Given the description of an element on the screen output the (x, y) to click on. 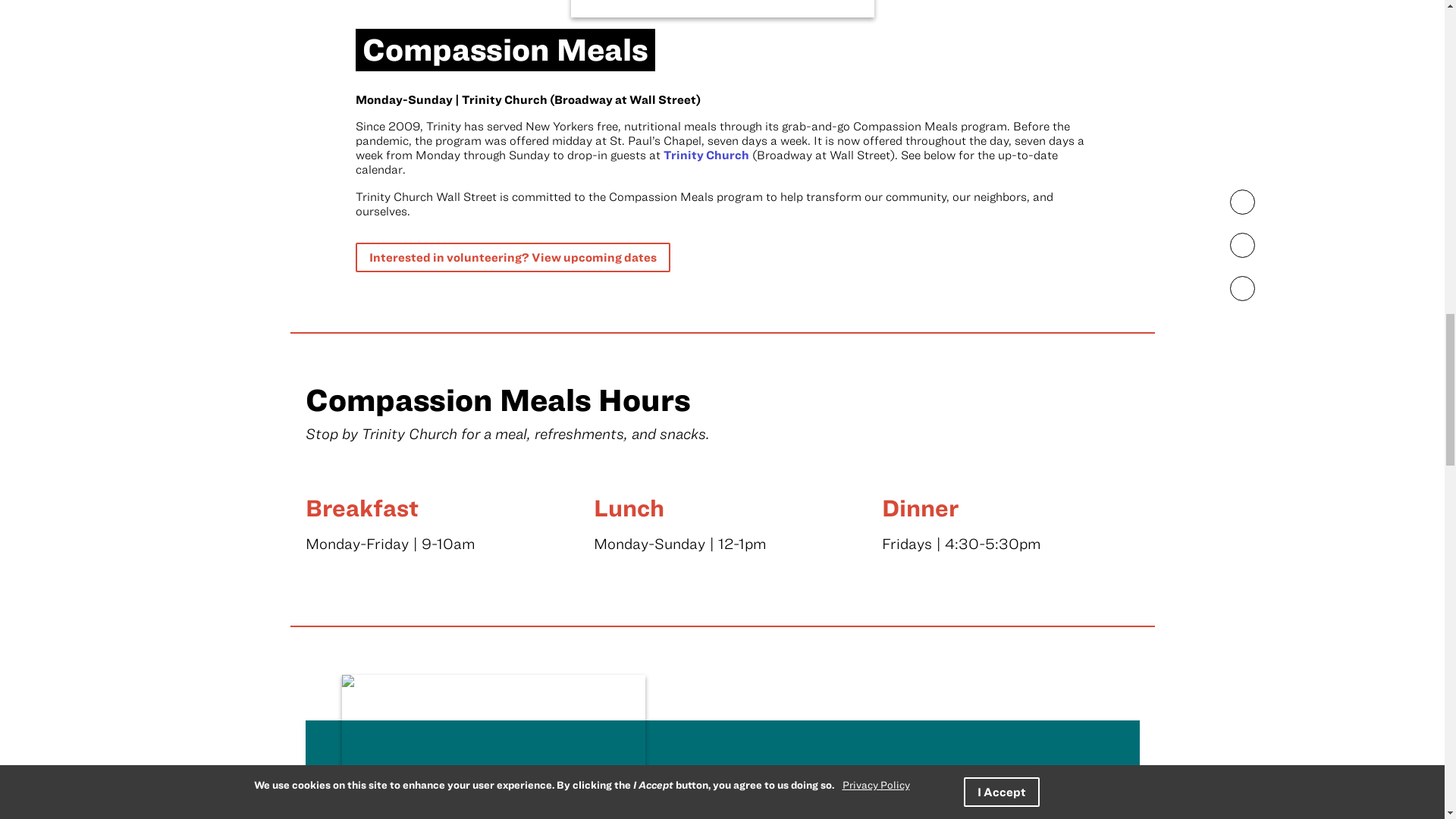
About Trinity Church Wall Street (705, 154)
Trinity Church (705, 154)
Interested in volunteering? View upcoming dates (512, 256)
